Given the description of an element on the screen output the (x, y) to click on. 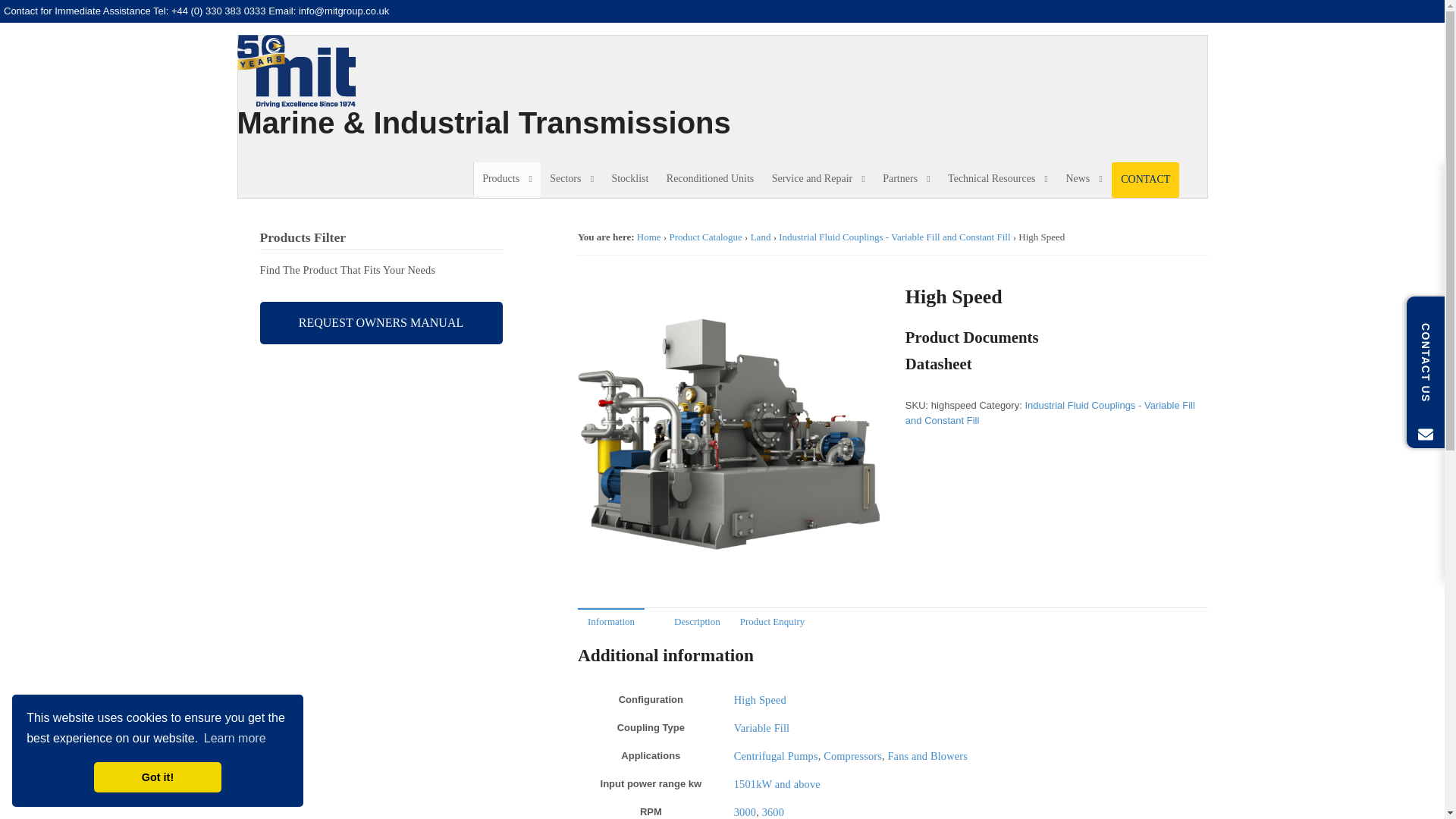
Got it! (157, 777)
Learn more (234, 738)
Products (507, 179)
Product Catalogue (704, 236)
View Land (761, 236)
